Given the description of an element on the screen output the (x, y) to click on. 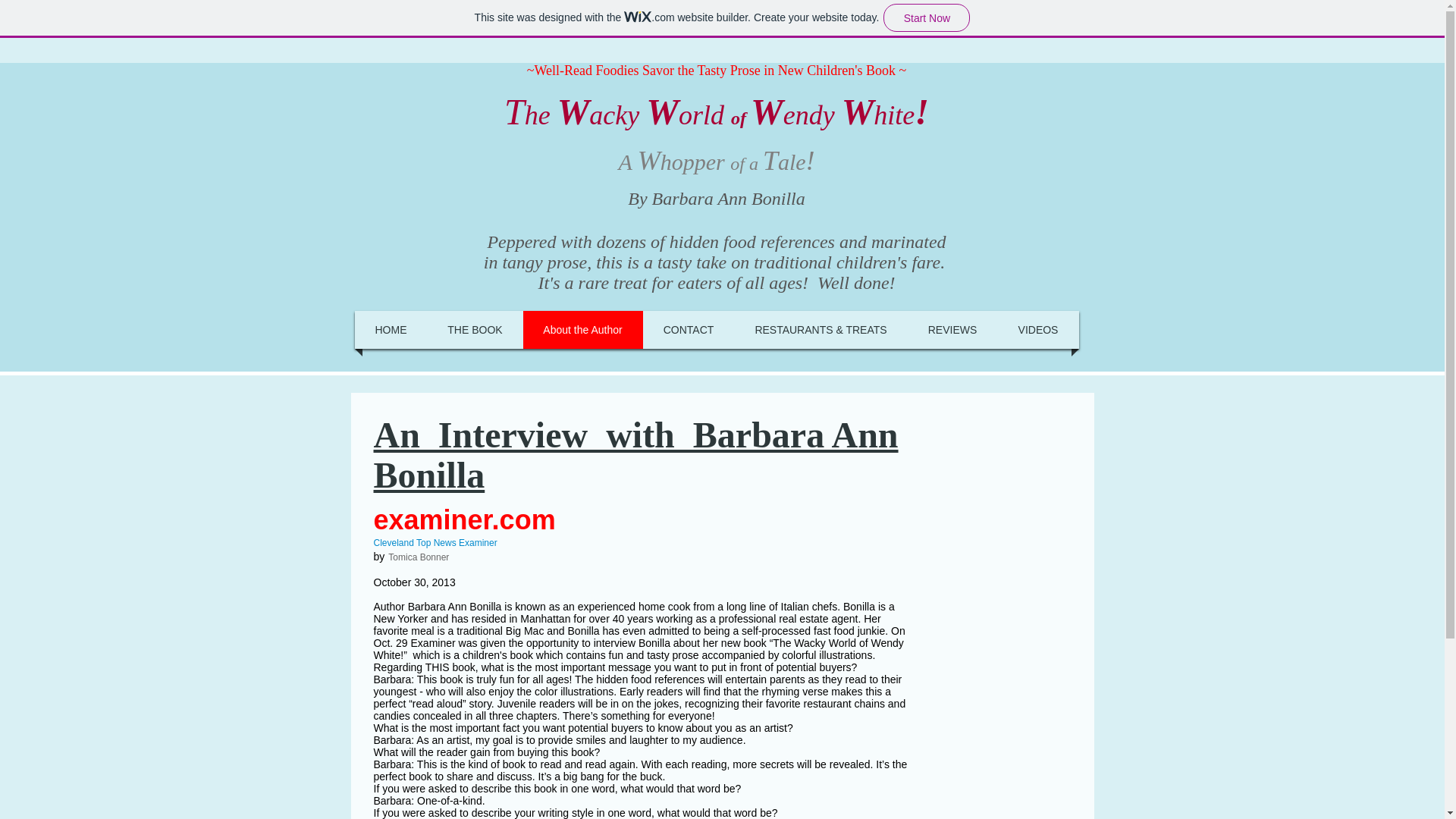
THE BOOK (474, 329)
REVIEWS (952, 329)
Author (388, 606)
Cleveland Top News Examiner (434, 542)
restaurant (827, 703)
food (844, 630)
CONTACT (688, 329)
Tomica Bonner (418, 557)
About the Author (582, 329)
VIDEOS (1037, 329)
HOME (390, 329)
